Given the description of an element on the screen output the (x, y) to click on. 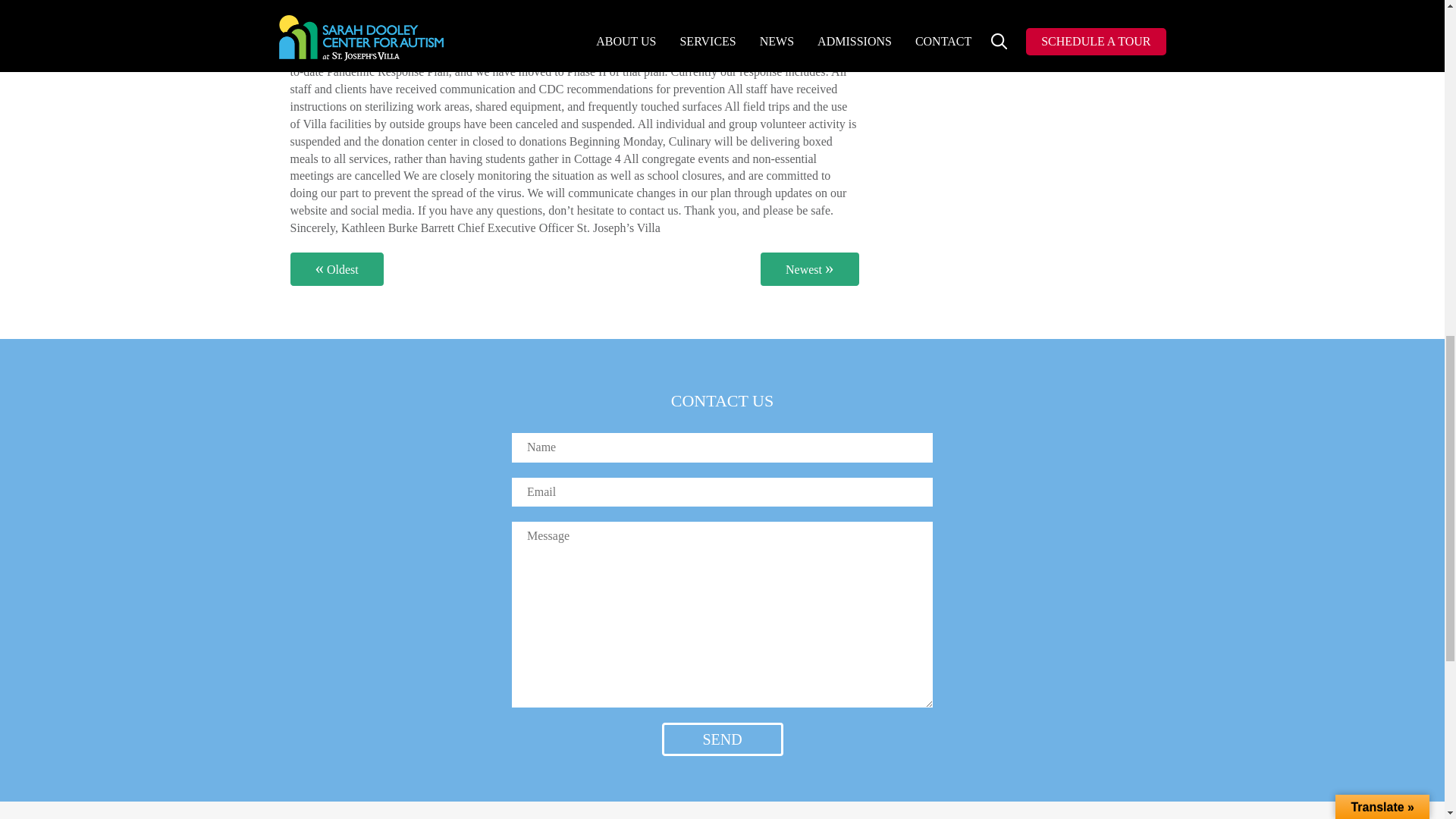
Send (722, 739)
